Given the description of an element on the screen output the (x, y) to click on. 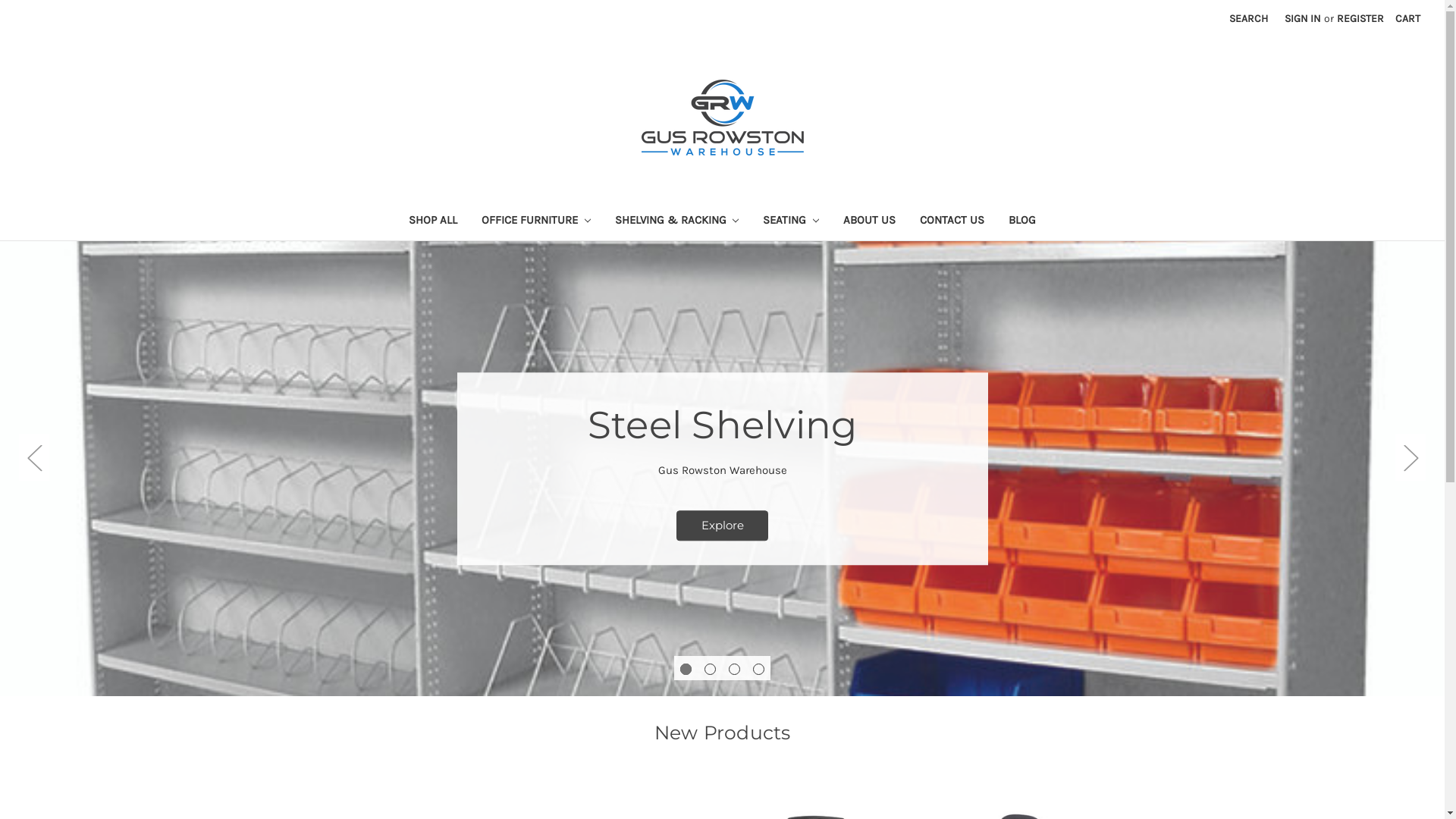
2 Element type: text (709, 668)
SEATING Element type: text (790, 221)
Previous Element type: text (33, 457)
Next Element type: text (1410, 457)
REGISTER Element type: text (1360, 18)
GRW Element type: hover (722, 117)
CART Element type: text (1407, 18)
3 Element type: text (734, 668)
SHOP ALL Element type: text (432, 221)
OFFICE FURNITURE Element type: text (535, 221)
SHELVING & RACKING Element type: text (676, 221)
BLOG Element type: text (1022, 221)
ABOUT US Element type: text (869, 221)
CONTACT US Element type: text (951, 221)
SIGN IN Element type: text (1302, 18)
4 Element type: text (758, 668)
1 Element type: text (685, 668)
SEARCH Element type: text (1248, 18)
